Given the description of an element on the screen output the (x, y) to click on. 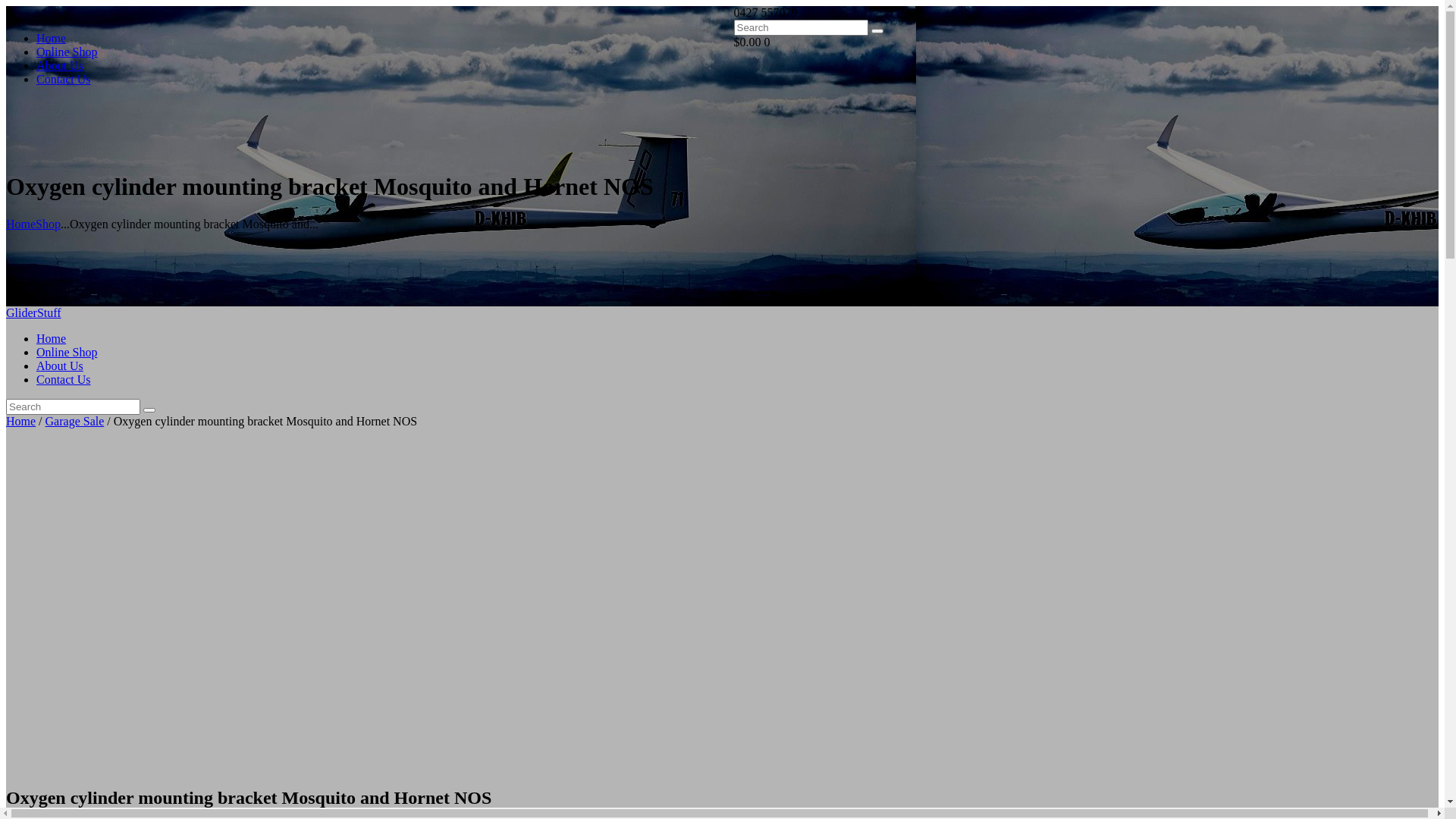
About Us Element type: text (59, 365)
Home Element type: text (50, 37)
Home Element type: text (50, 338)
Home Element type: text (20, 420)
Shop Element type: text (47, 223)
Online Shop Element type: text (66, 351)
About Us Element type: text (59, 65)
Contact Us Element type: text (63, 379)
Contact Us Element type: text (63, 78)
GliderStuff Element type: text (33, 312)
Garage Sale Element type: text (74, 420)
Home Element type: text (20, 223)
Online Shop Element type: text (66, 51)
